Given the description of an element on the screen output the (x, y) to click on. 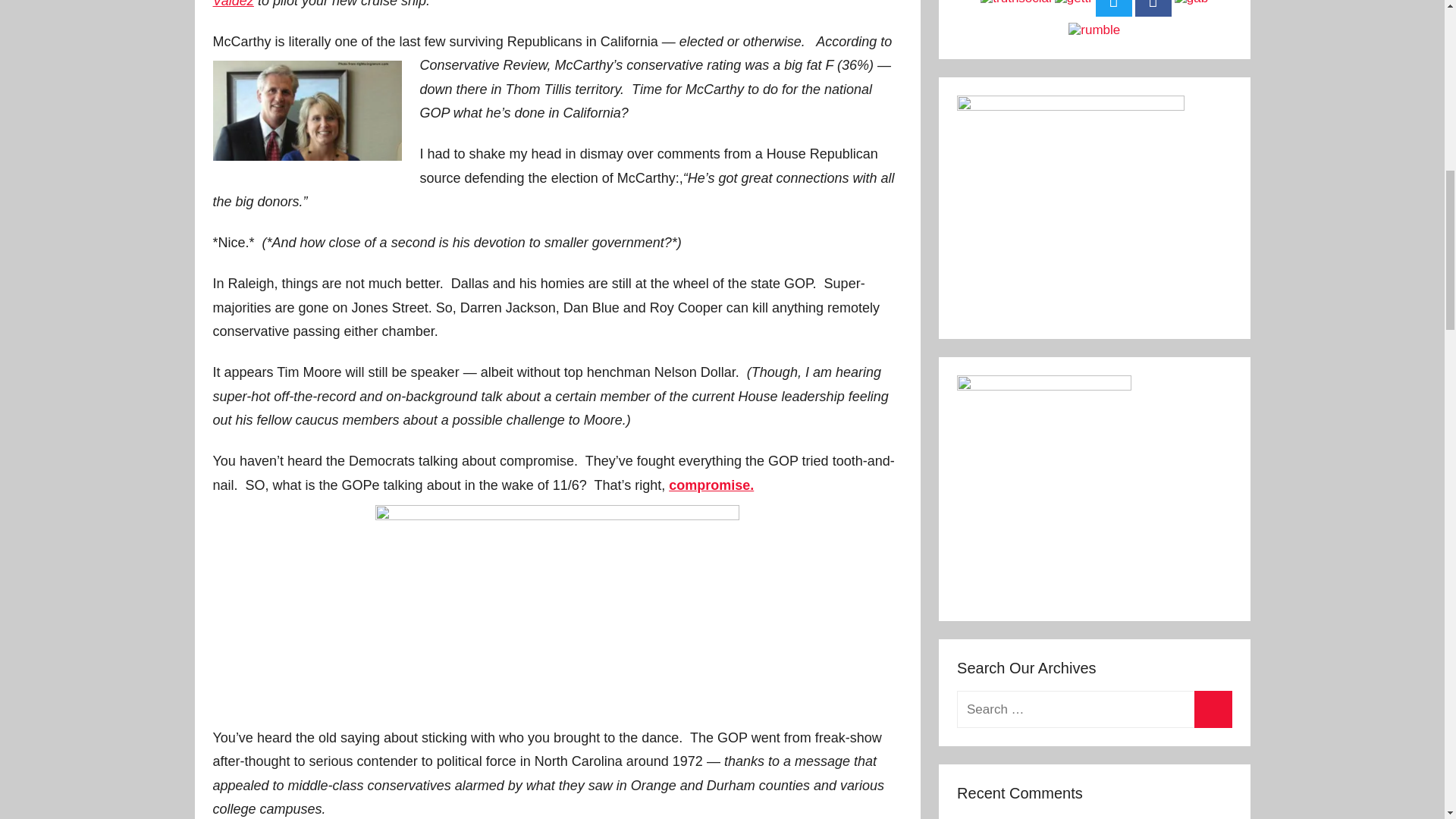
truthsocial (1015, 2)
truthsocial (1015, 2)
gab (1191, 2)
gettr (1073, 2)
gettr (1073, 2)
rumble (1094, 29)
rumble (1093, 29)
gab (1191, 2)
hiring the captain of the Exxon Valdez (550, 4)
fb (1153, 8)
Search for: (1093, 709)
compromise. (711, 485)
twitter (1114, 8)
